Given the description of an element on the screen output the (x, y) to click on. 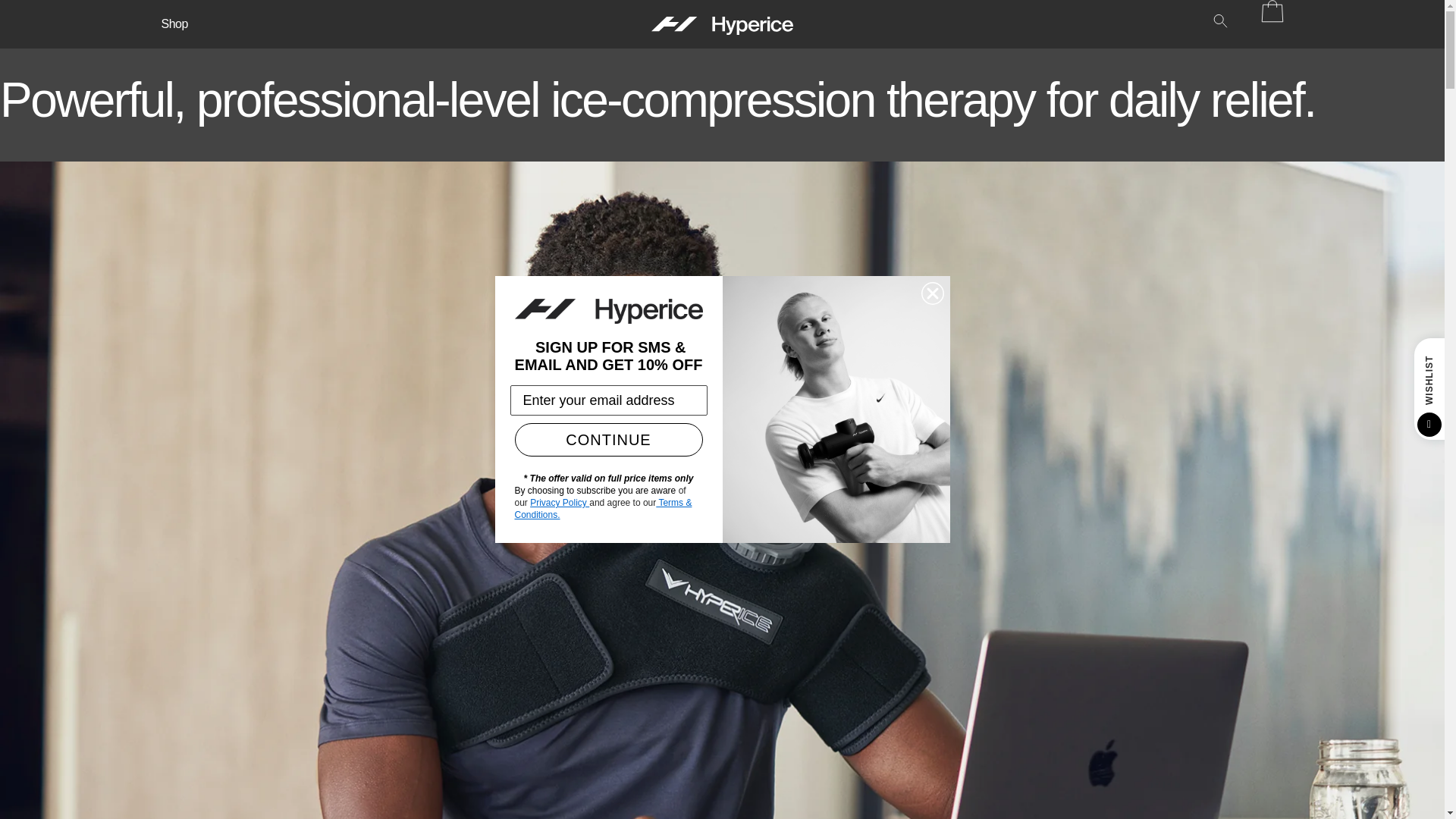
Shop (173, 24)
Cart (1265, 11)
Skip to content (45, 16)
Close dialog 2 (931, 292)
